Given the description of an element on the screen output the (x, y) to click on. 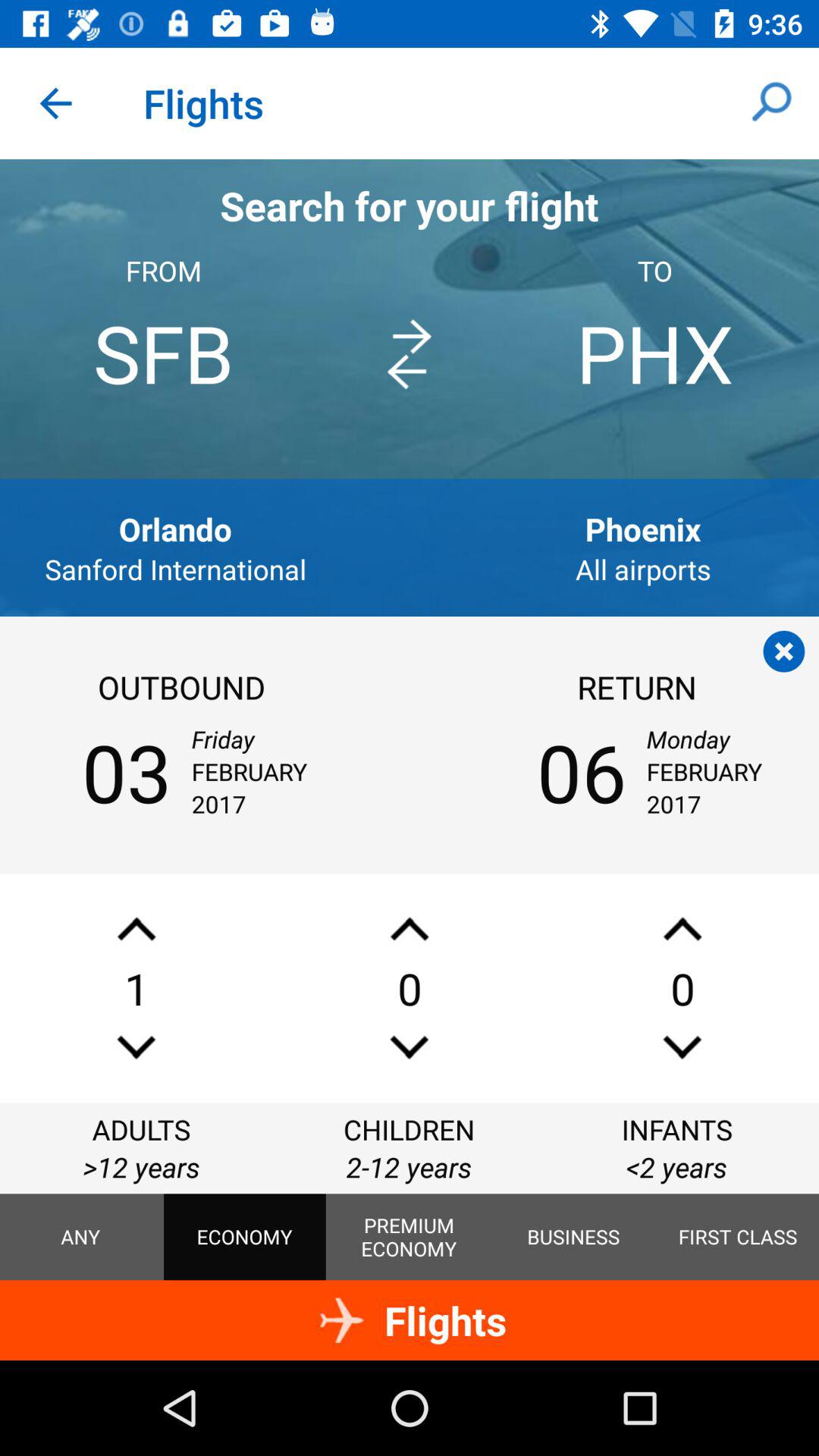
add adult (136, 928)
